Given the description of an element on the screen output the (x, y) to click on. 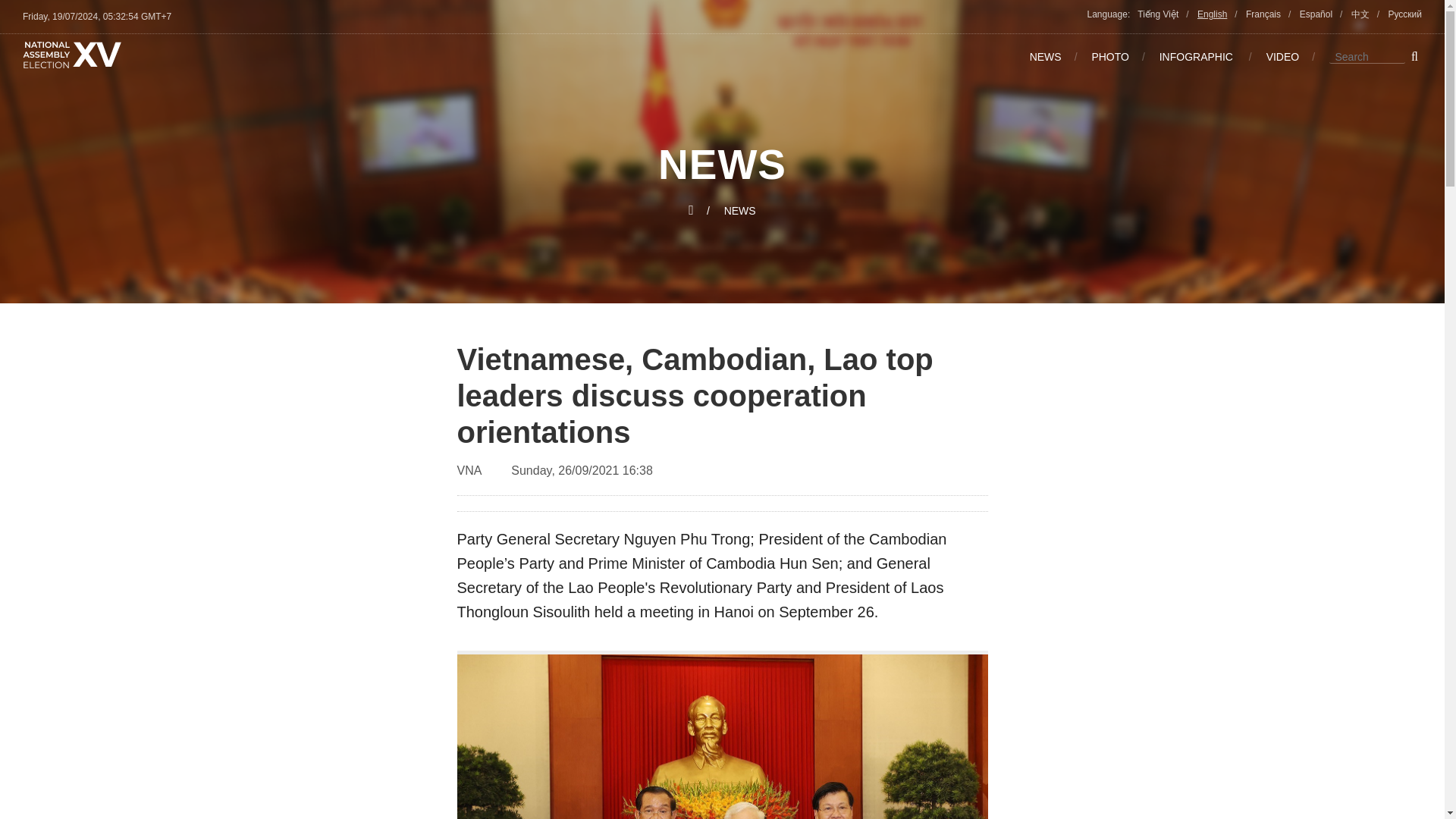
NEWS (739, 211)
English (1219, 14)
PHOTO (1123, 57)
NEWS (1059, 57)
INFOGRAPHIC (1210, 57)
VIDEO (1296, 57)
